Given the description of an element on the screen output the (x, y) to click on. 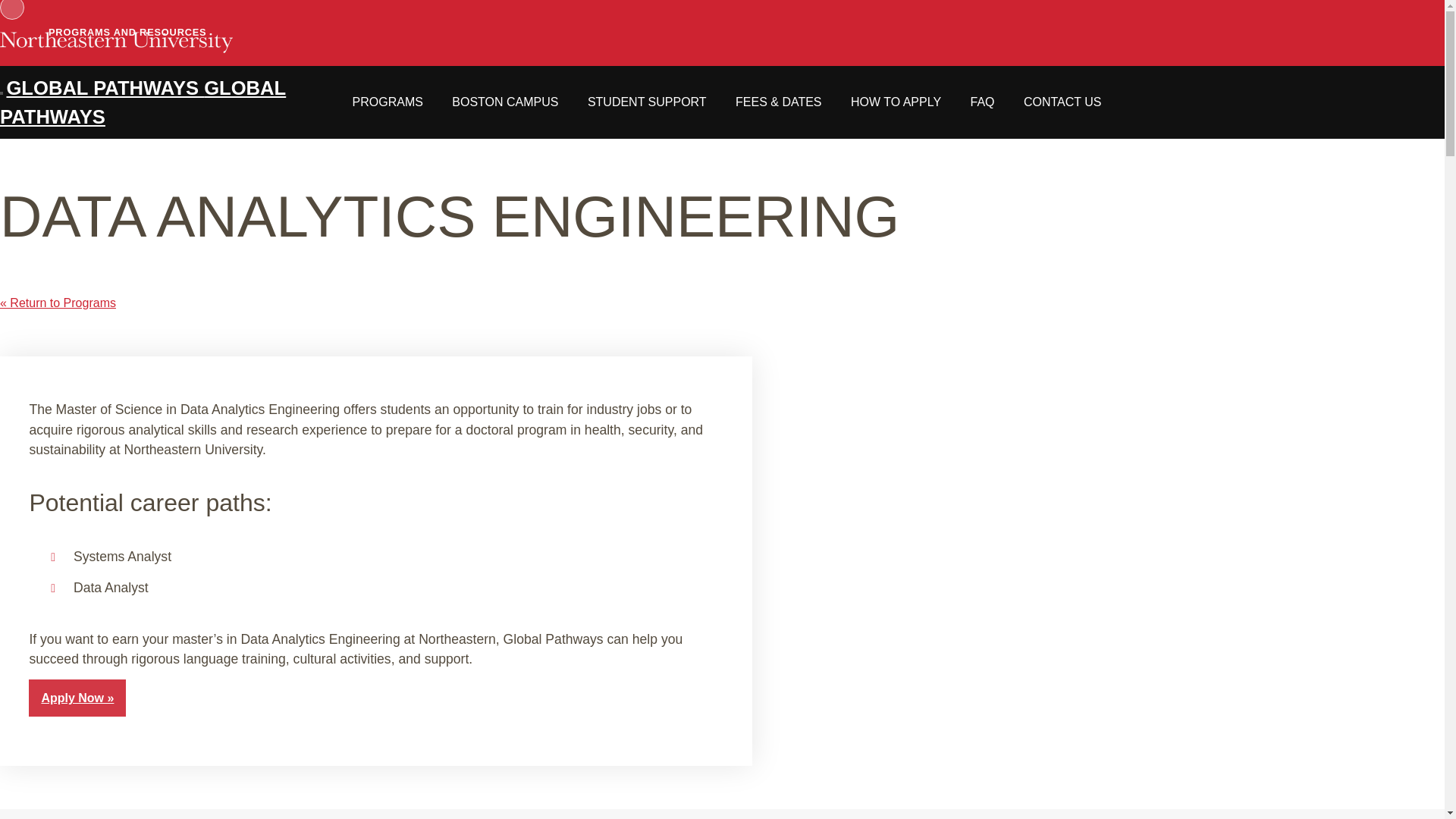
GLOBAL PATHWAYS (142, 101)
HOW TO APPLY (895, 102)
FAQ (981, 102)
GLOBAL PATHWAYS (104, 87)
PROGRAMS (387, 102)
BOSTON CAMPUS (504, 102)
CONTACT US (1062, 102)
STUDENT SUPPORT (647, 102)
